Given the description of an element on the screen output the (x, y) to click on. 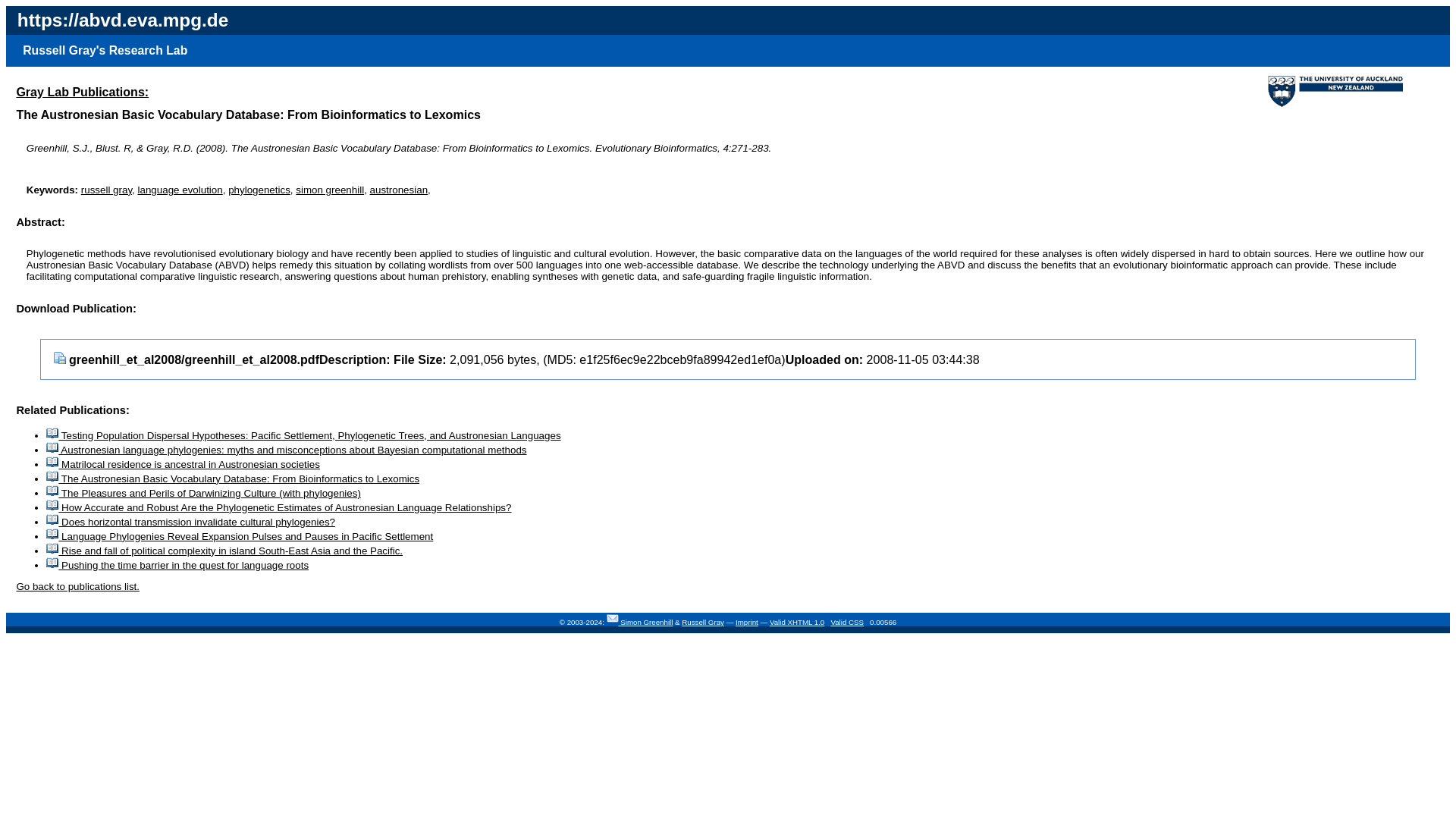
Uploaded on: 2008-11-05 03:44:38 (882, 359)
simon greenhill (329, 189)
Gray Lab Publications: (82, 91)
simon greenhill (329, 189)
Valid CSS (846, 622)
Description: (355, 359)
austronesian (398, 189)
Simon Greenhill (646, 622)
Go back to publications list. (77, 586)
